Given the description of an element on the screen output the (x, y) to click on. 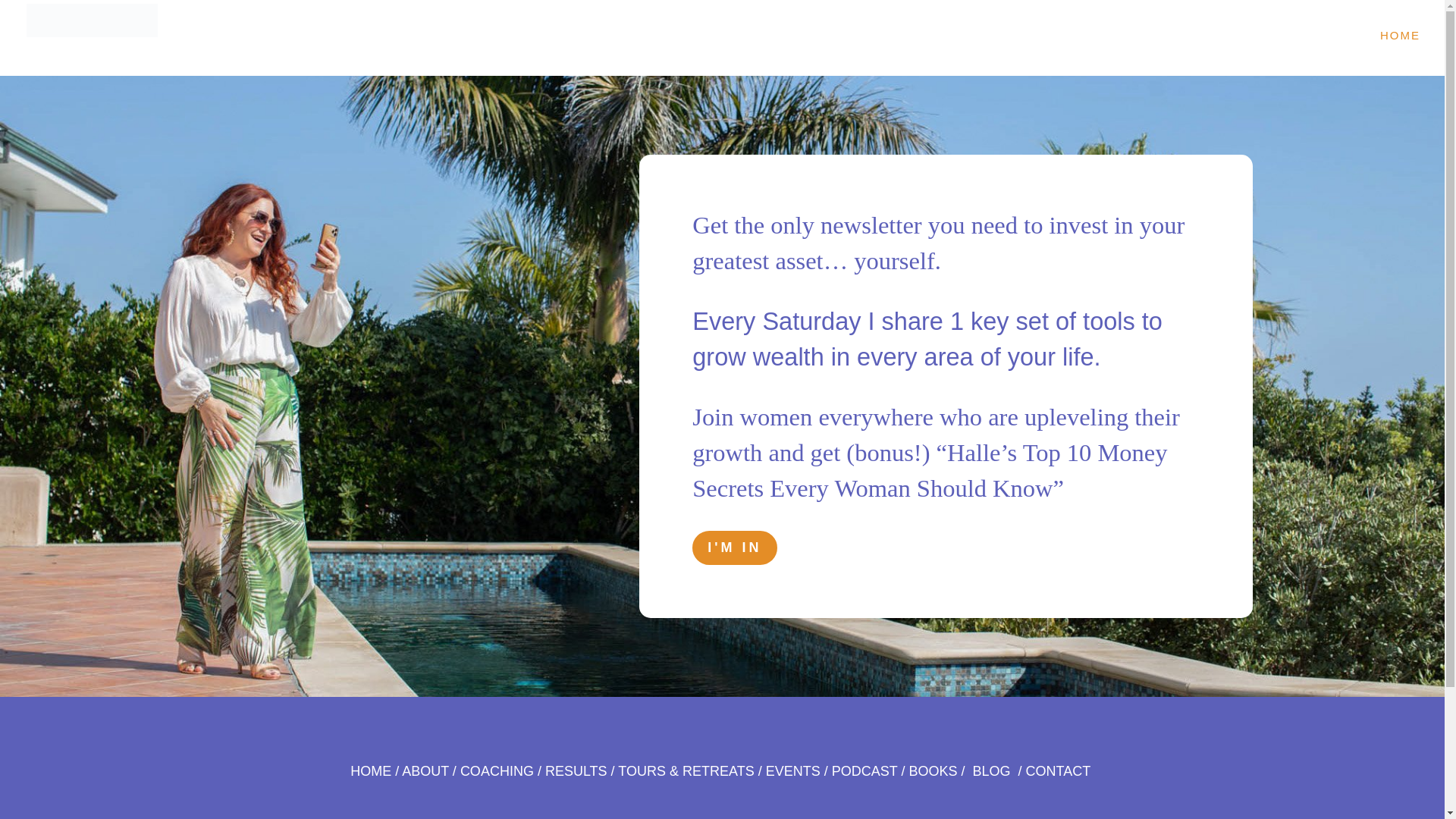
CONTACT  (1059, 770)
RESULTS (575, 770)
PODCAST (864, 770)
EVENTS (793, 770)
HOME (1400, 35)
BOOKS (932, 770)
BLOG (991, 770)
I'M IN (734, 547)
ABOUT (424, 770)
Privacy Policy (938, 818)
